Given the description of an element on the screen output the (x, y) to click on. 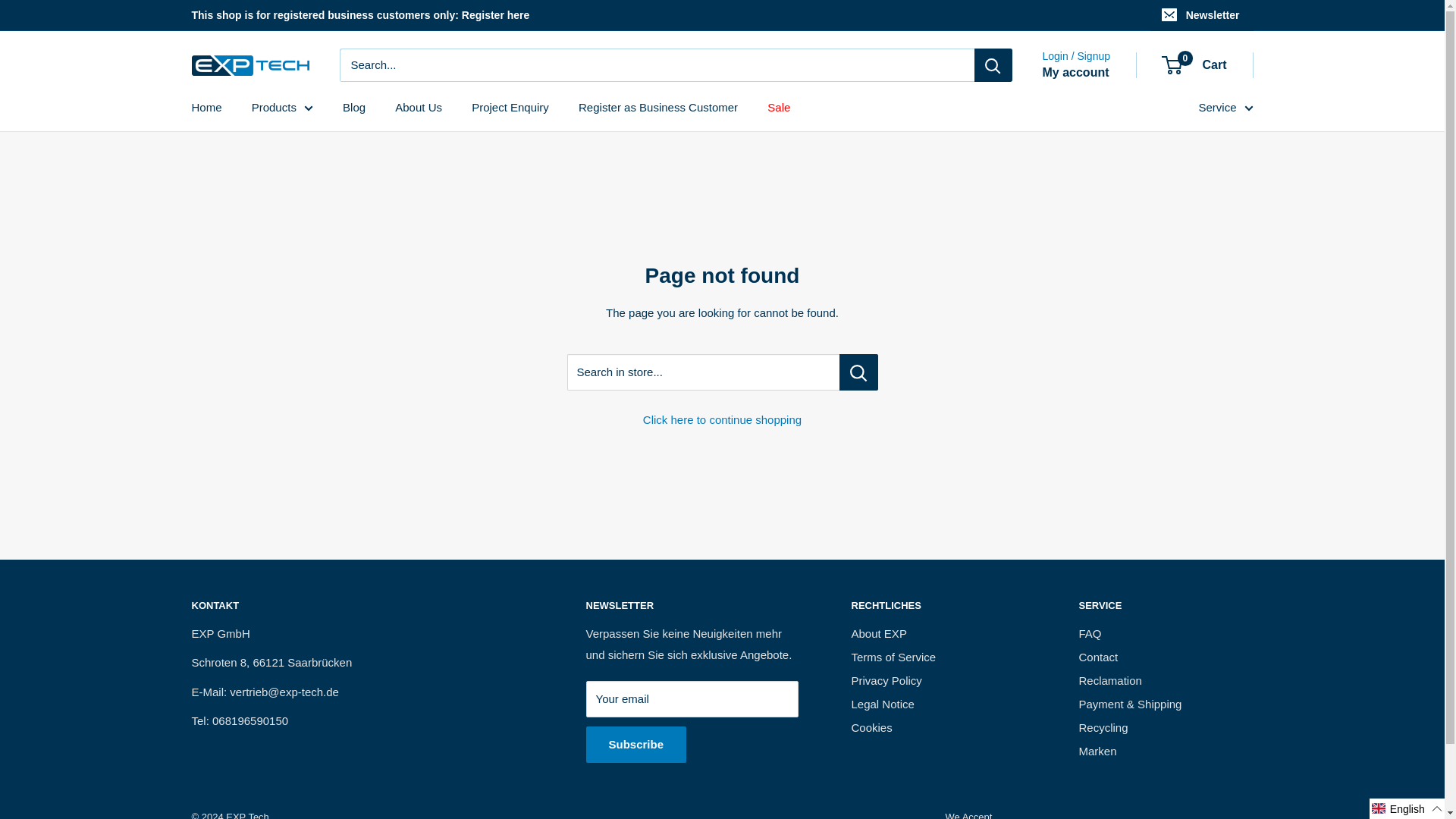
Newsletter (1201, 15)
